Given the description of an element on the screen output the (x, y) to click on. 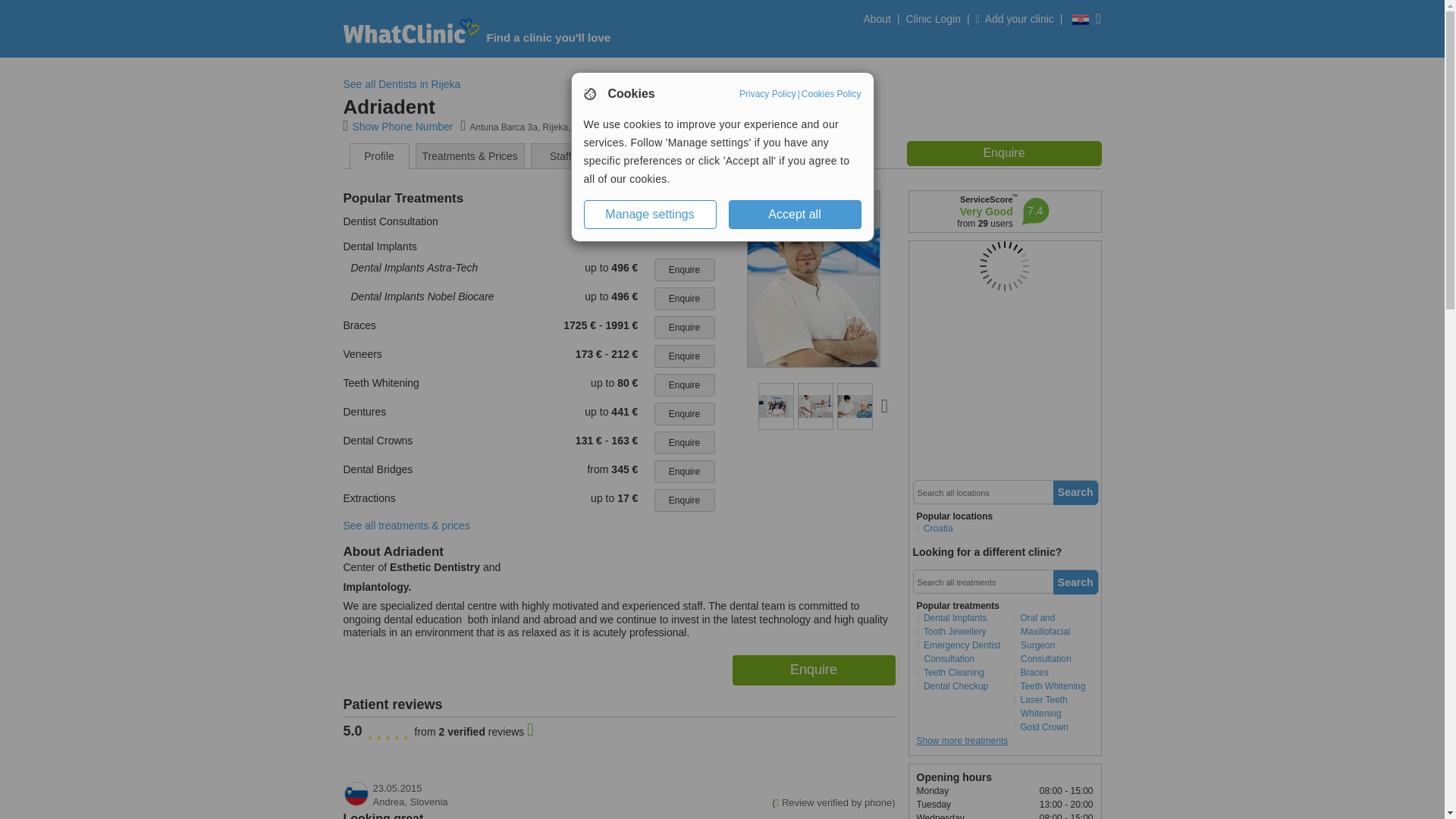
Location: Search all locations (979, 492)
Croatia (959, 528)
Enquire (813, 670)
Teeth Cleaning (959, 672)
Click to see larger map for Adriadent (1004, 265)
Search (1074, 492)
Gold Crown (1056, 726)
Search (1074, 582)
Enquire (1004, 153)
Tooth Jewellery in Rijeka (959, 631)
Emergency Dentist Consultation (959, 651)
Enquire (683, 298)
Find a clinic you'll love (548, 37)
Dental Implants (959, 617)
Dentists in Croatia (959, 528)
